Given the description of an element on the screen output the (x, y) to click on. 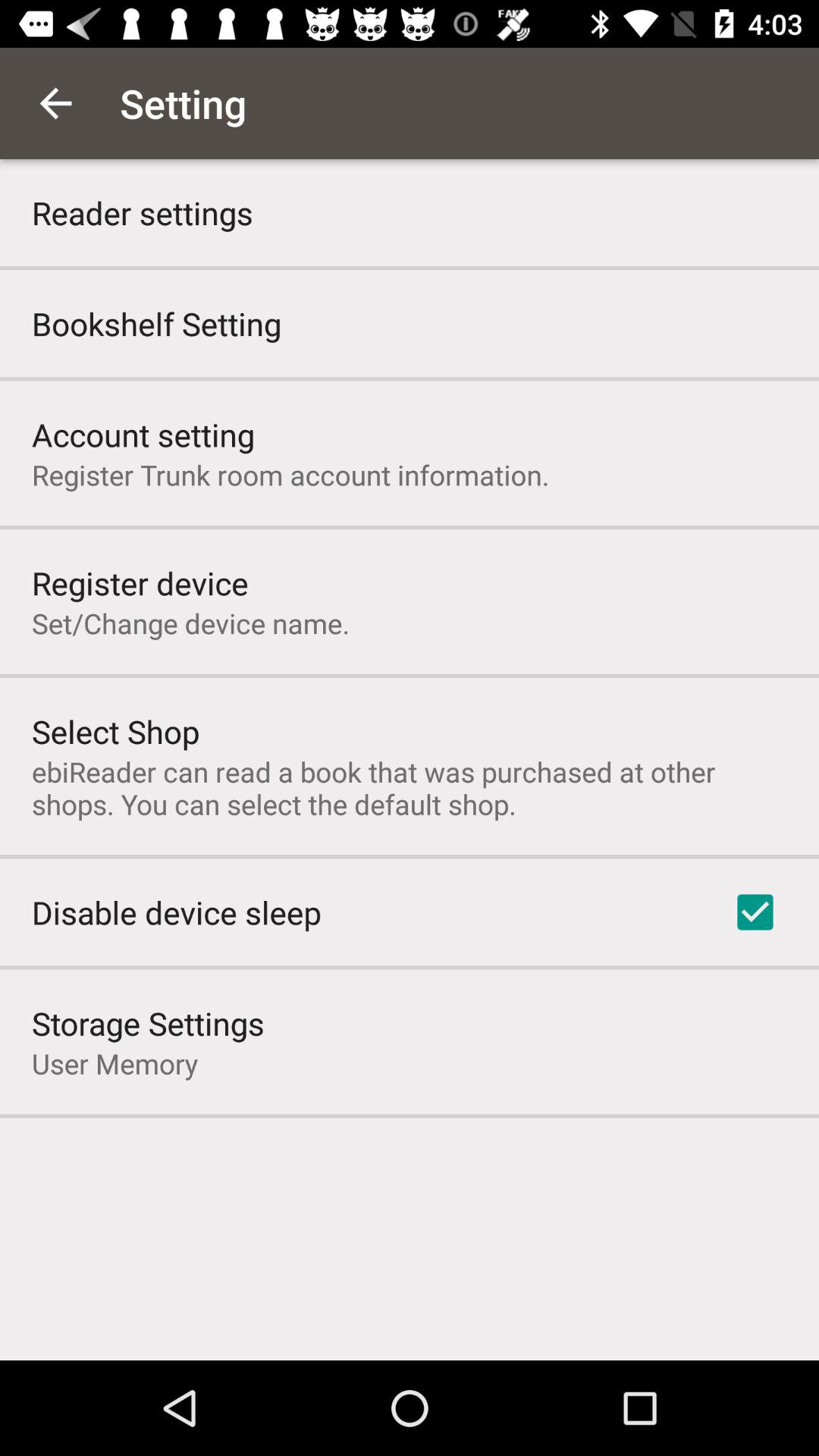
turn on storage settings icon (147, 1022)
